Given the description of an element on the screen output the (x, y) to click on. 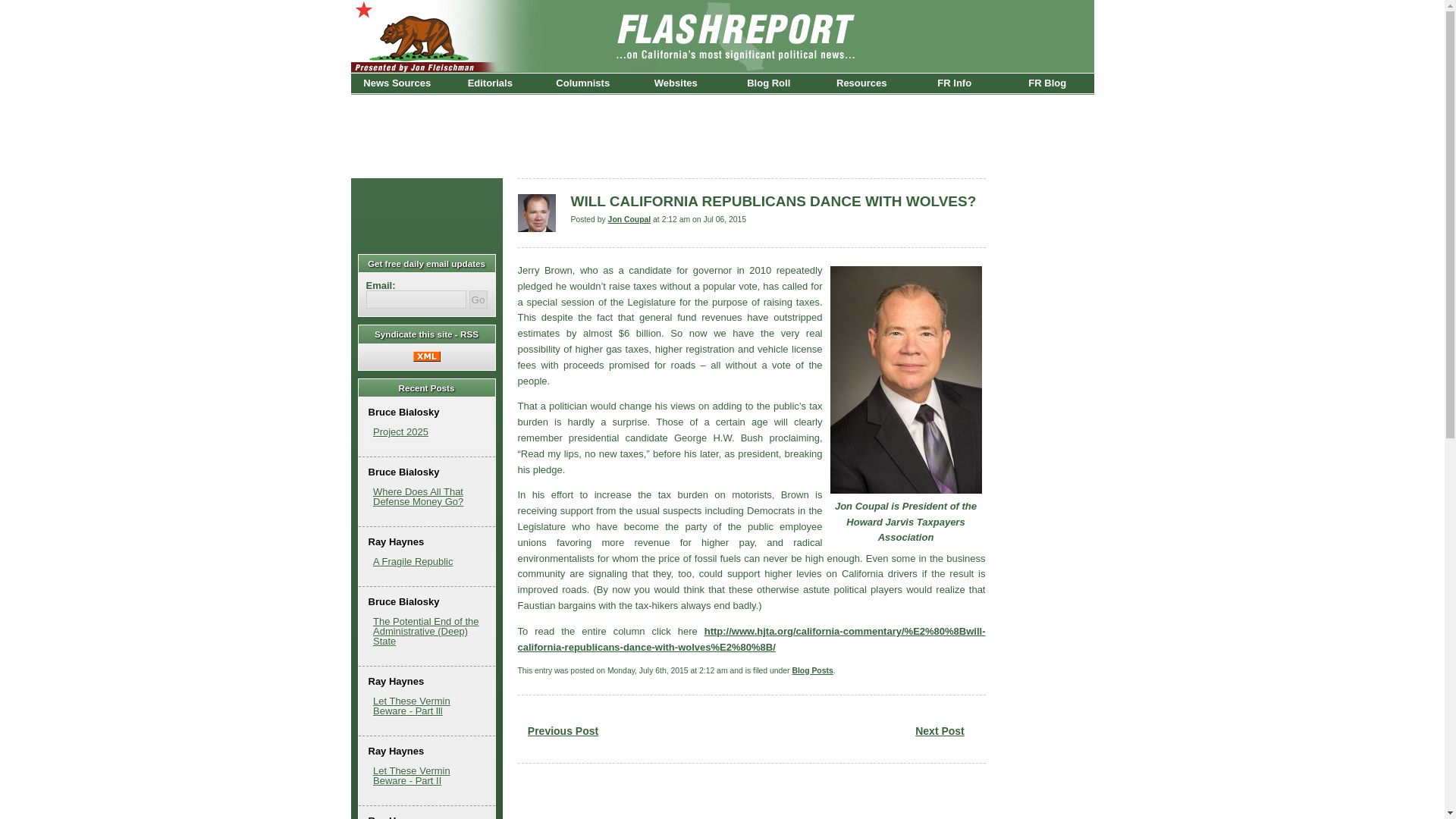
Posts by Jon Coupal (629, 219)
